Given the description of an element on the screen output the (x, y) to click on. 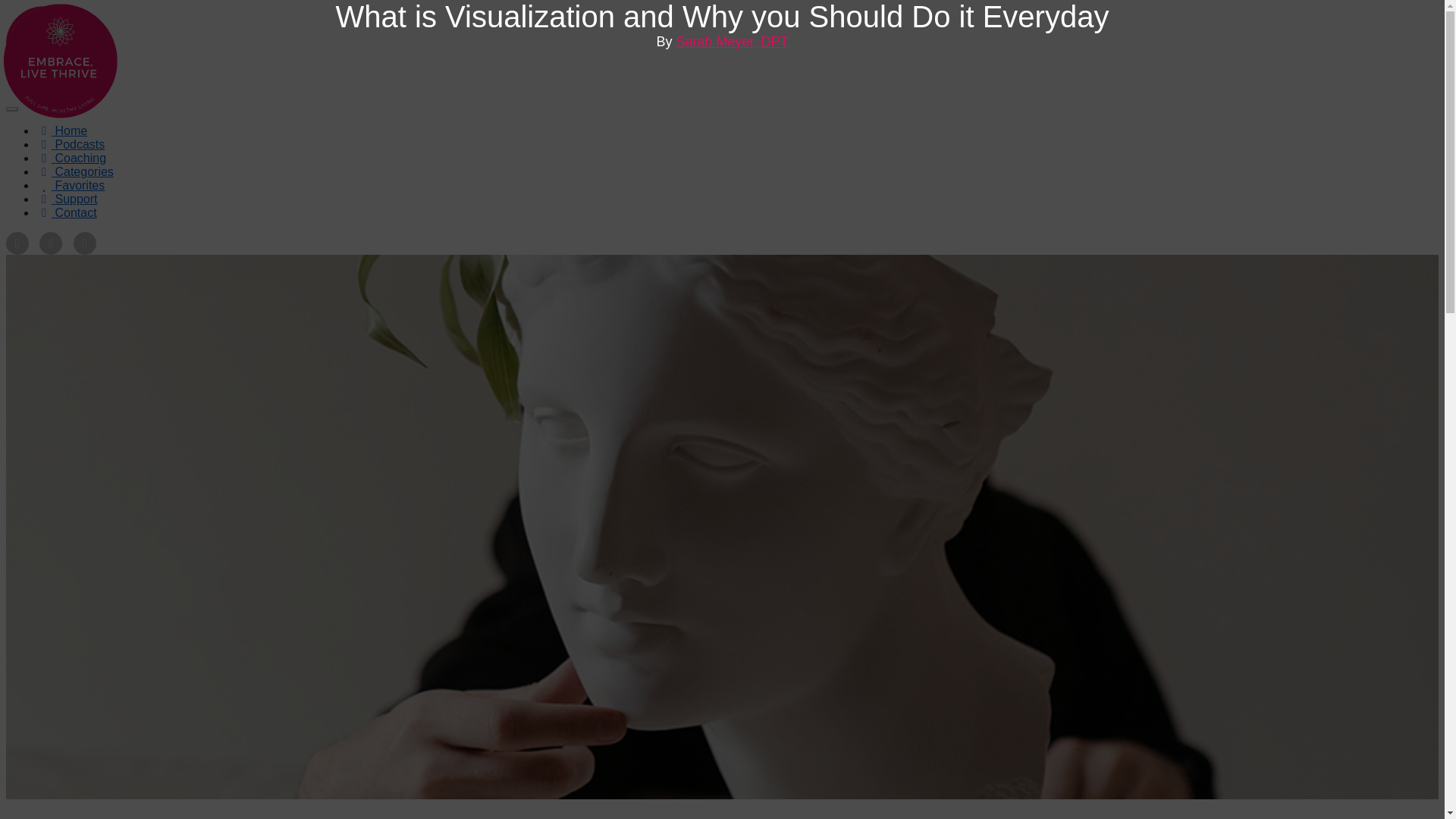
Support (66, 198)
Categories (74, 171)
Coaching (71, 157)
Contact (66, 212)
Podcasts (70, 144)
Home (61, 130)
Sarah Meyer, DPT (731, 41)
Favorites (70, 185)
